Given the description of an element on the screen output the (x, y) to click on. 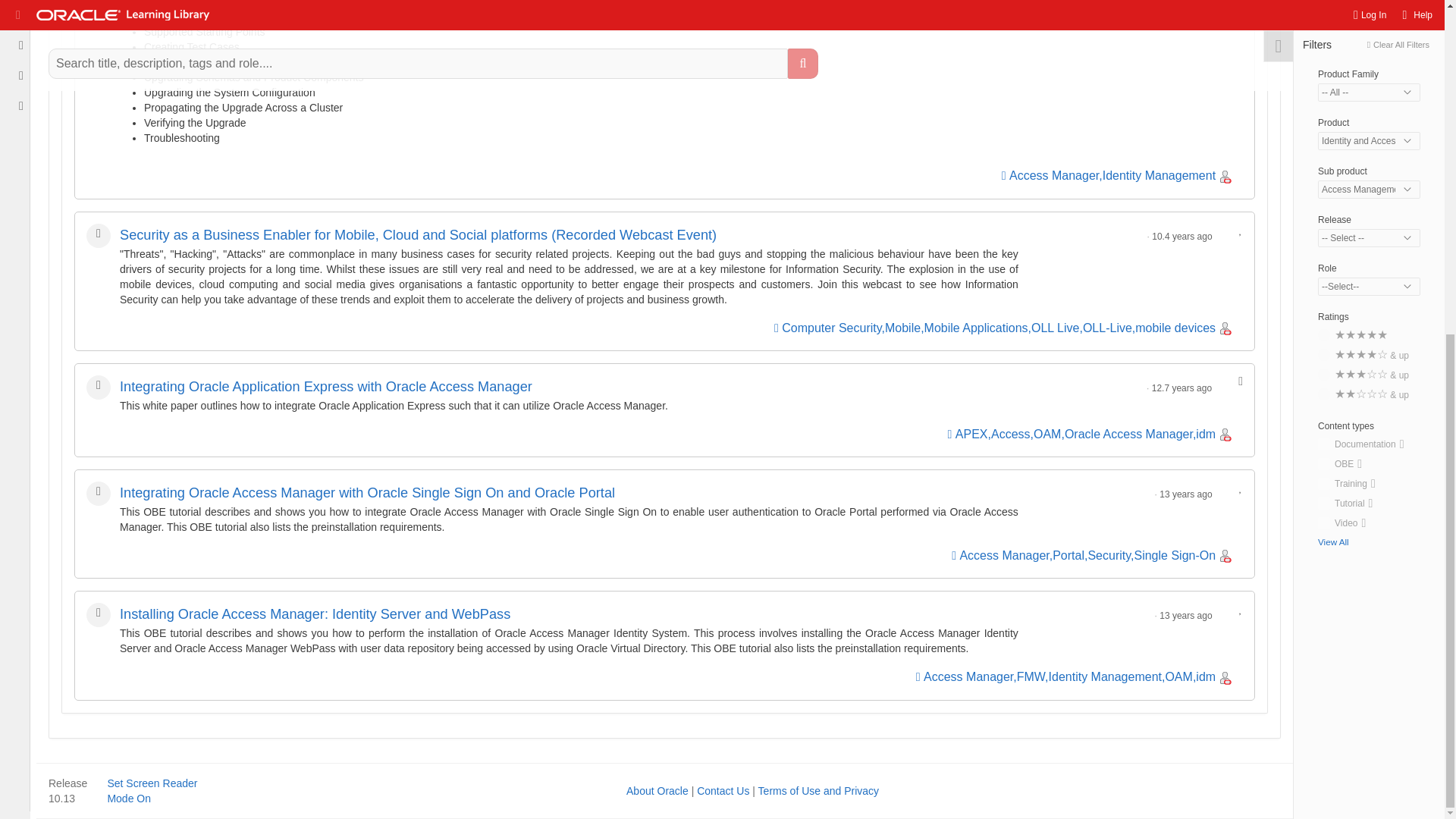
Access (1010, 433)
Oracle Contributor (1224, 328)
Identity Management (1104, 676)
Identity Management (1158, 174)
Oracle Contributor (1224, 555)
mobile devices (1175, 327)
Mobile (902, 327)
Access Manager (1003, 554)
Single Sign-On (1174, 554)
